Given the description of an element on the screen output the (x, y) to click on. 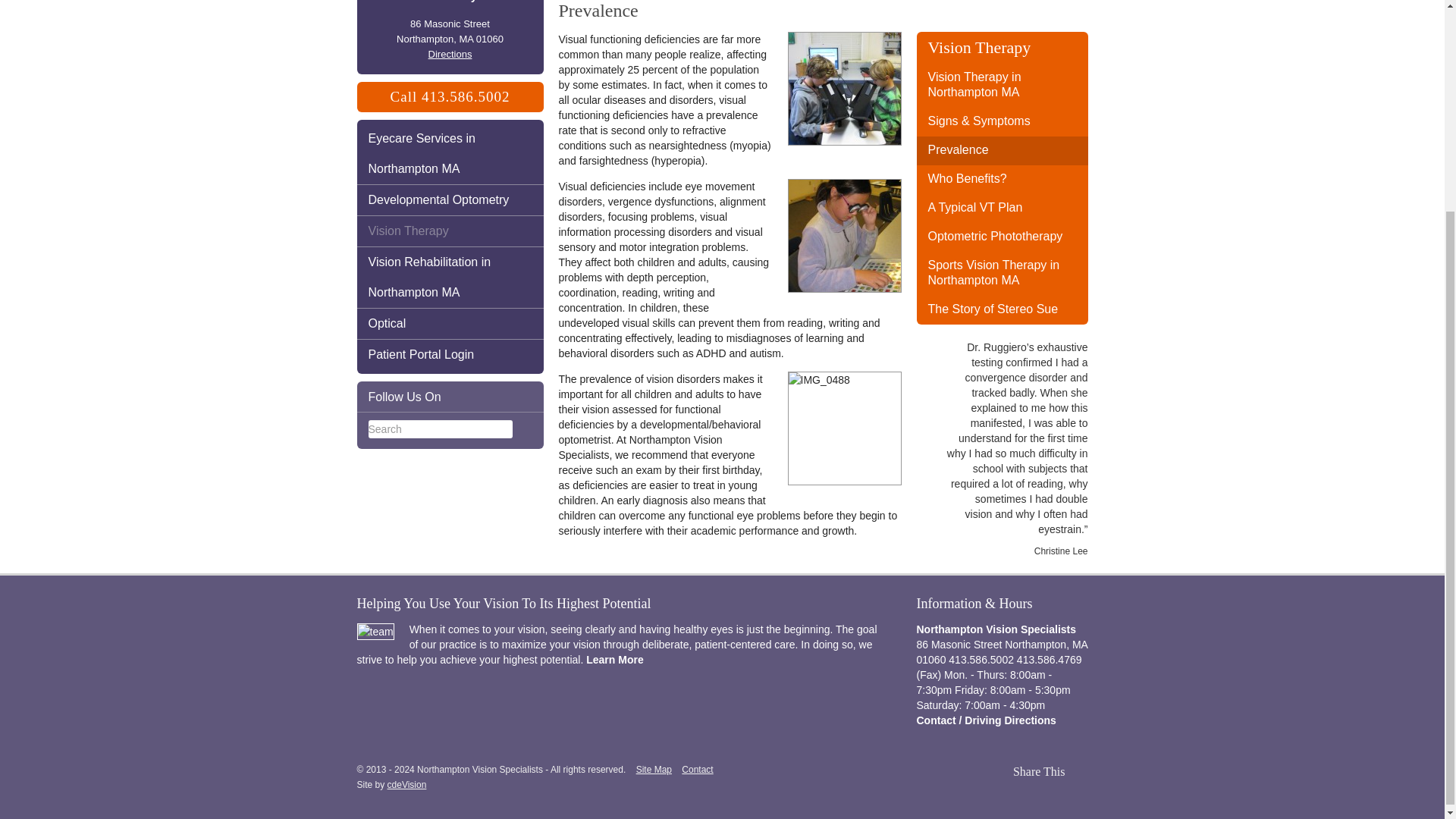
Developmental Optometry (449, 200)
Who Benefits? (1001, 179)
Optical (449, 323)
Facebook (523, 397)
Vision Rehabilitation in Northampton MA (449, 277)
Optometric Phototherapy (1001, 236)
Vision Therapy in Northampton MA (1001, 85)
Vision Therapy (449, 231)
A Typical VT Plan (1001, 208)
Sports Vision Therapy in Northampton MA (1001, 273)
